Given the description of an element on the screen output the (x, y) to click on. 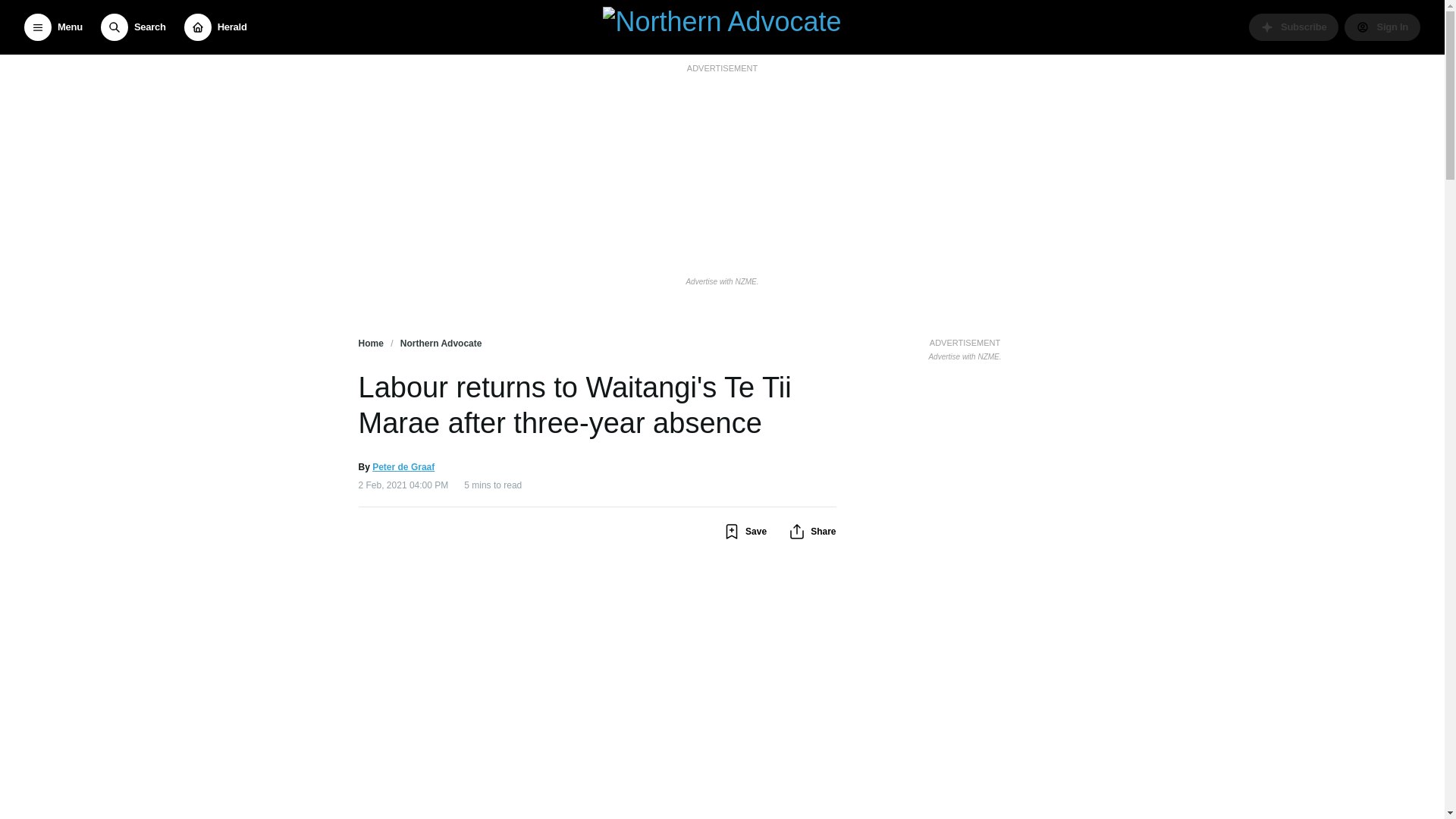
Sign In (1382, 26)
Advertise with NZME. (721, 281)
Search (132, 26)
Menu (53, 26)
Manage your account (1382, 26)
Northern Advocate (440, 343)
Herald (215, 26)
Home (370, 343)
Peter de Graaf (402, 466)
Subscribe (1294, 26)
